Given the description of an element on the screen output the (x, y) to click on. 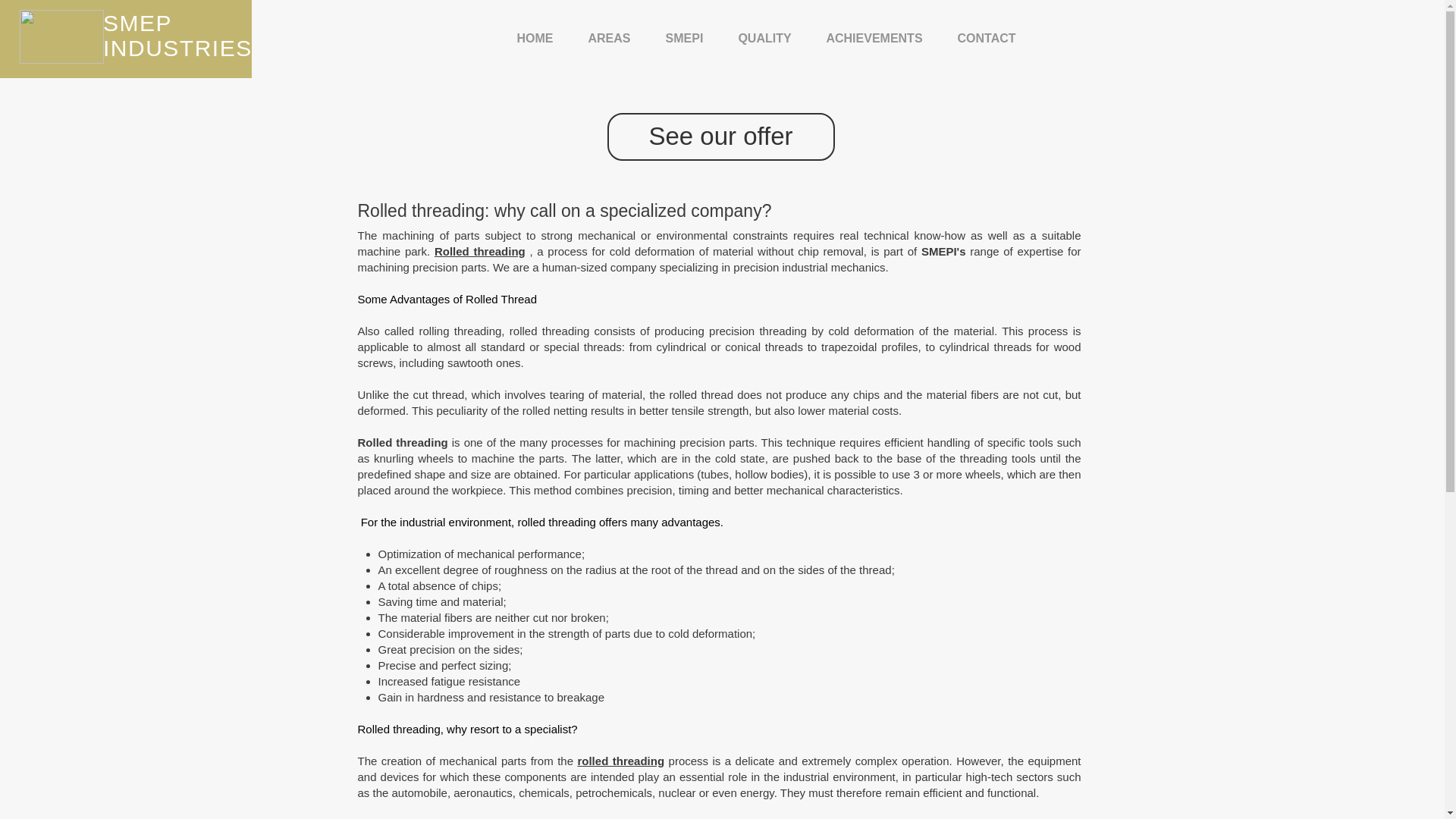
AREAS (608, 38)
INDUSTRIES (177, 48)
Rolled threading (479, 250)
HOME (534, 38)
rolled threading (619, 760)
See our offer (720, 136)
SMEPI (683, 38)
SMEP (137, 23)
QUALITY (764, 38)
CONTACT (986, 38)
